Given the description of an element on the screen output the (x, y) to click on. 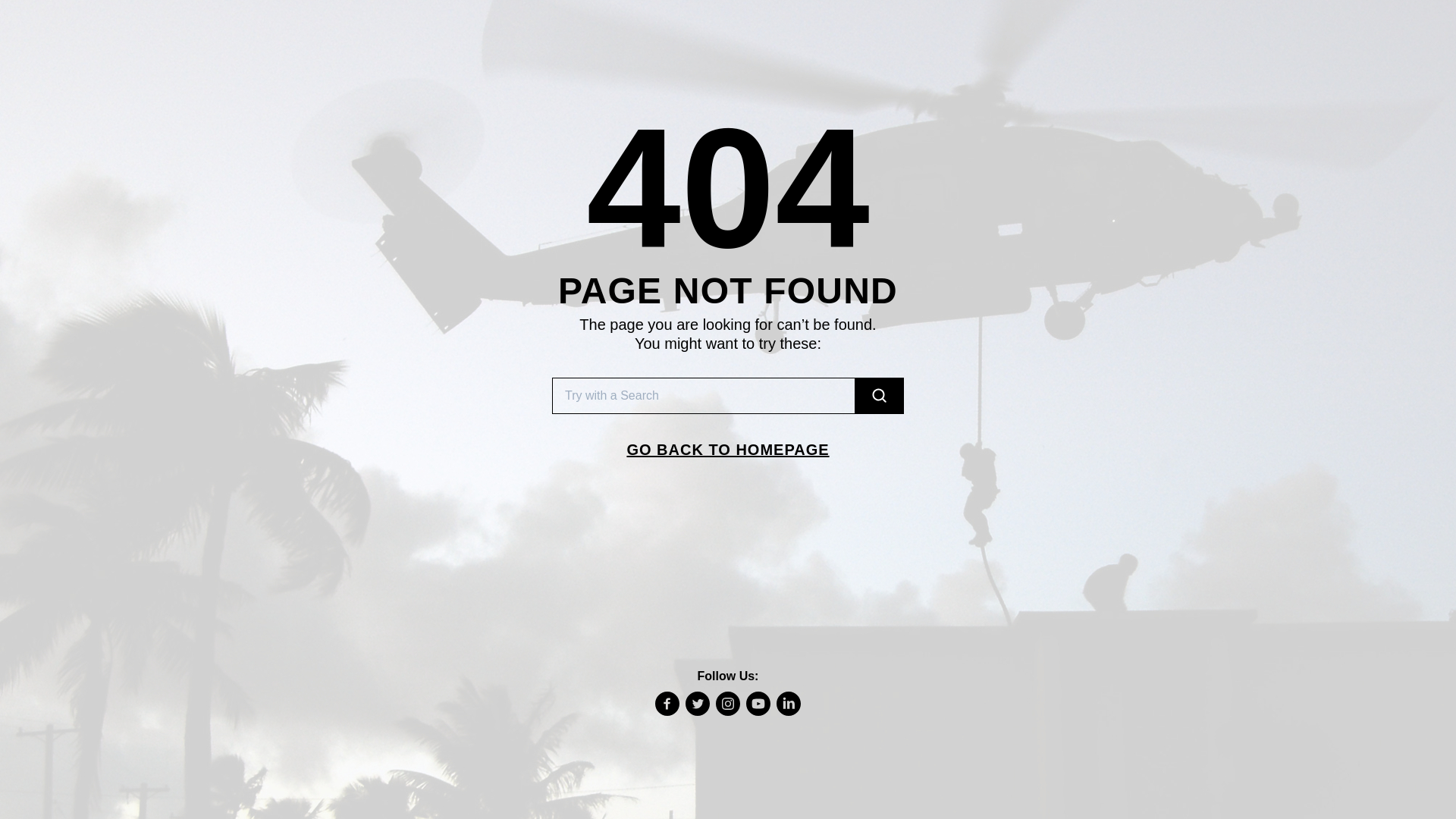
GO BACK TO HOMEPAGE (727, 449)
